Given the description of an element on the screen output the (x, y) to click on. 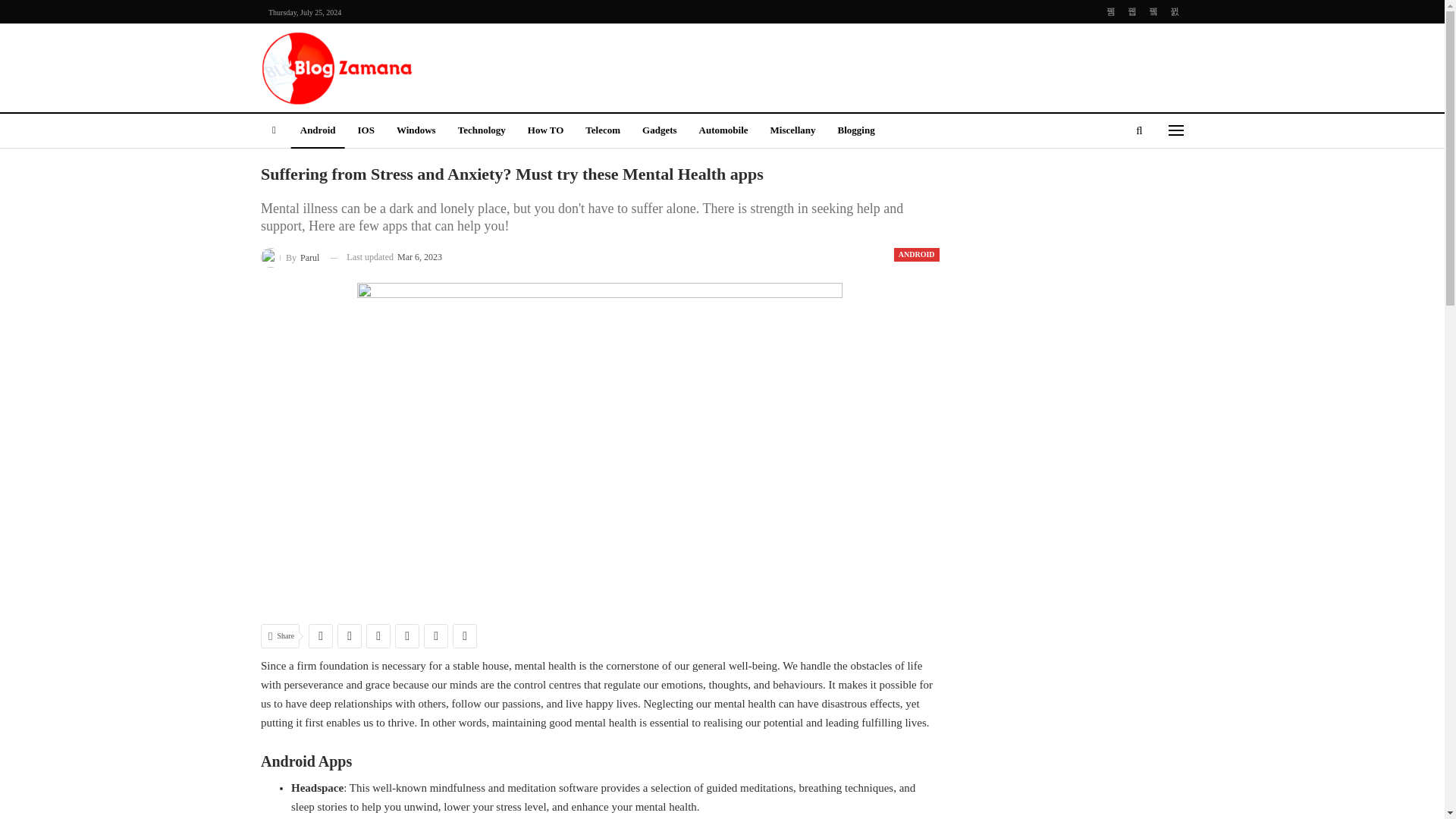
Browse Author Articles (289, 257)
Blogging (855, 131)
By Parul (289, 257)
Gadgets (659, 131)
Android (318, 131)
Windows (416, 131)
Telecom (602, 131)
Automobile (723, 131)
ANDROID (916, 254)
How TO (545, 131)
IOS (364, 131)
Miscellany (793, 131)
Technology (481, 131)
